Given the description of an element on the screen output the (x, y) to click on. 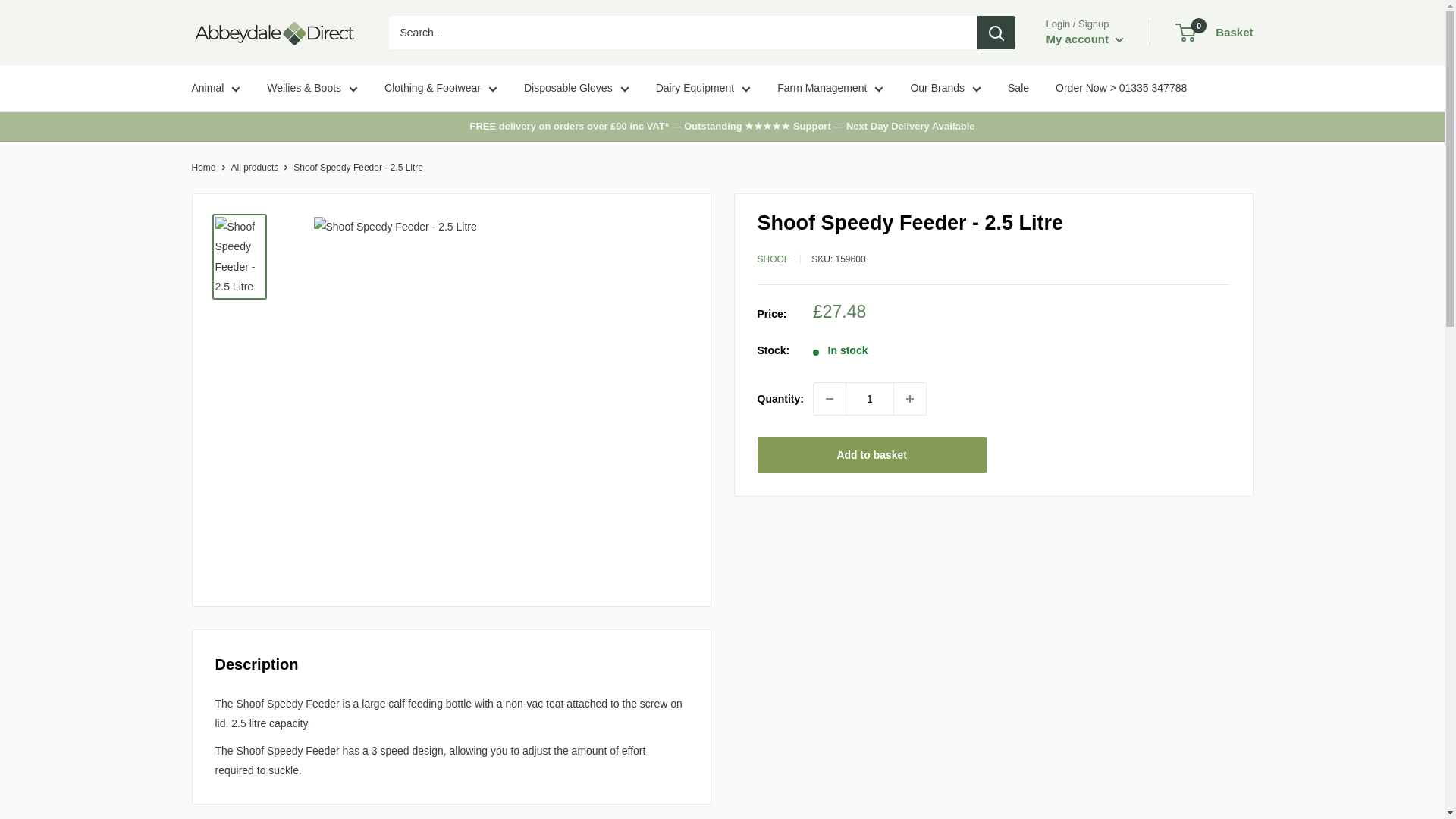
1 (869, 398)
Increase quantity by 1 (909, 398)
Decrease quantity by 1 (829, 398)
